Given the description of an element on the screen output the (x, y) to click on. 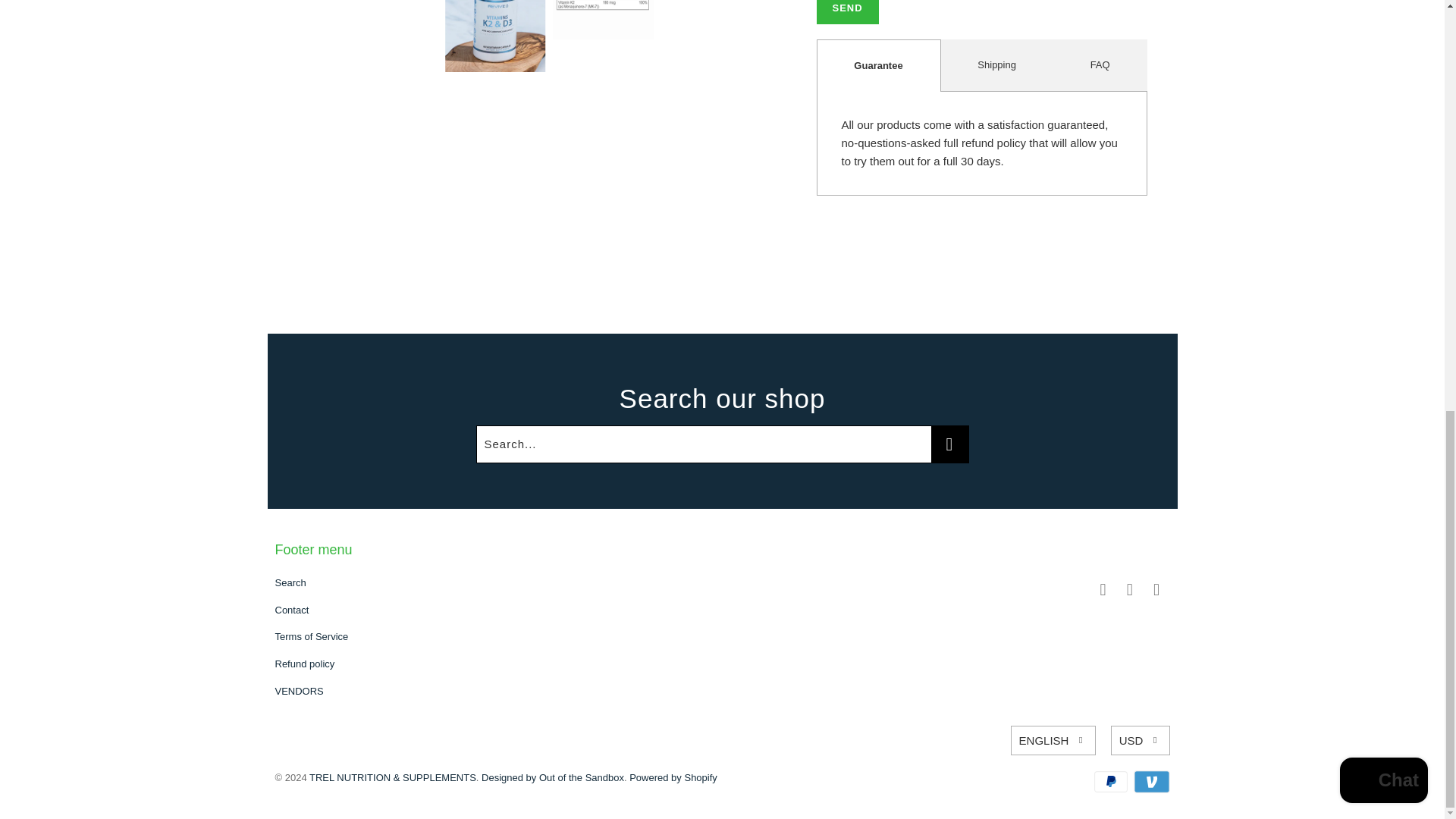
Venmo (1150, 781)
PayPal (1112, 781)
Send (846, 12)
